Given the description of an element on the screen output the (x, y) to click on. 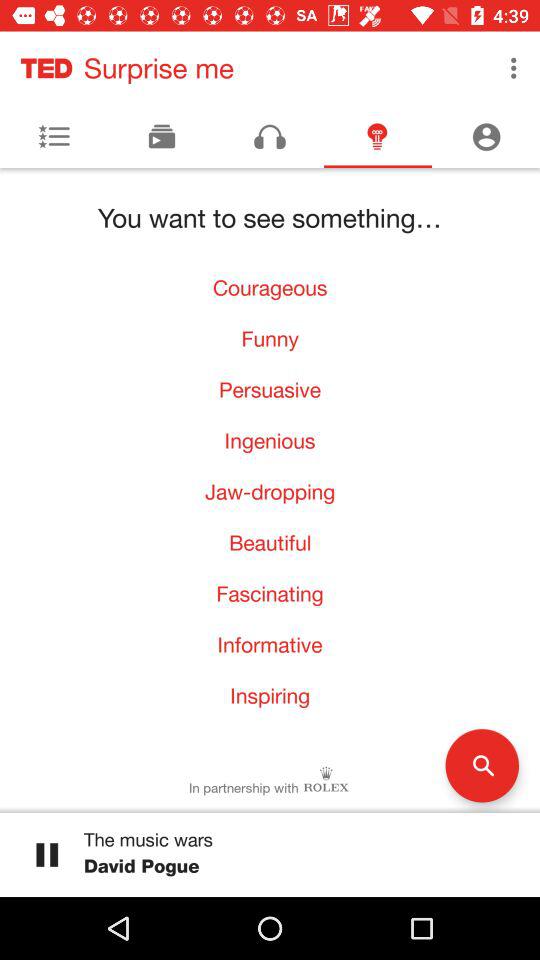
select the item above the fascinating icon (270, 542)
